Given the description of an element on the screen output the (x, y) to click on. 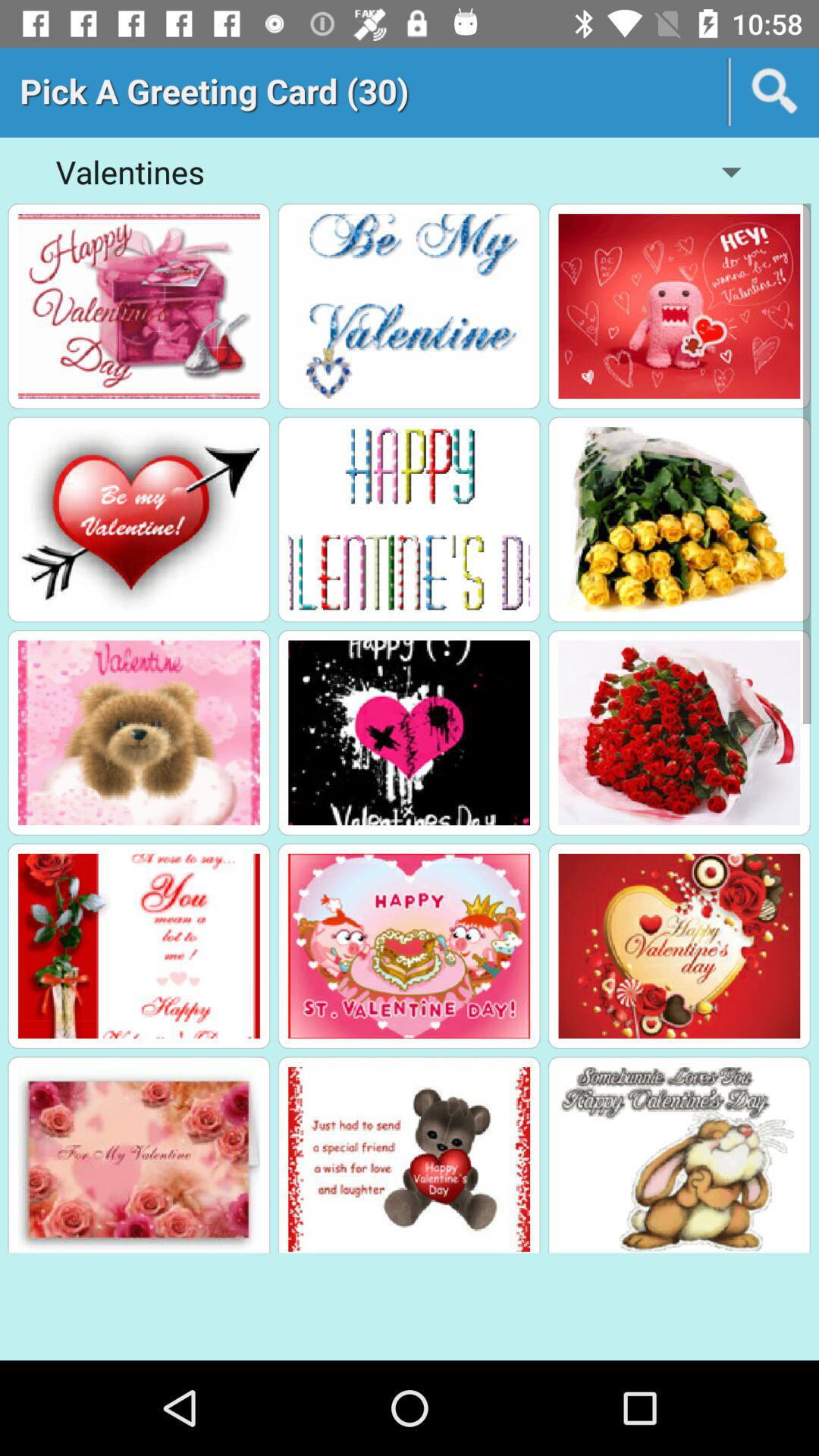
heart image greeting card (138, 519)
